Given the description of an element on the screen output the (x, y) to click on. 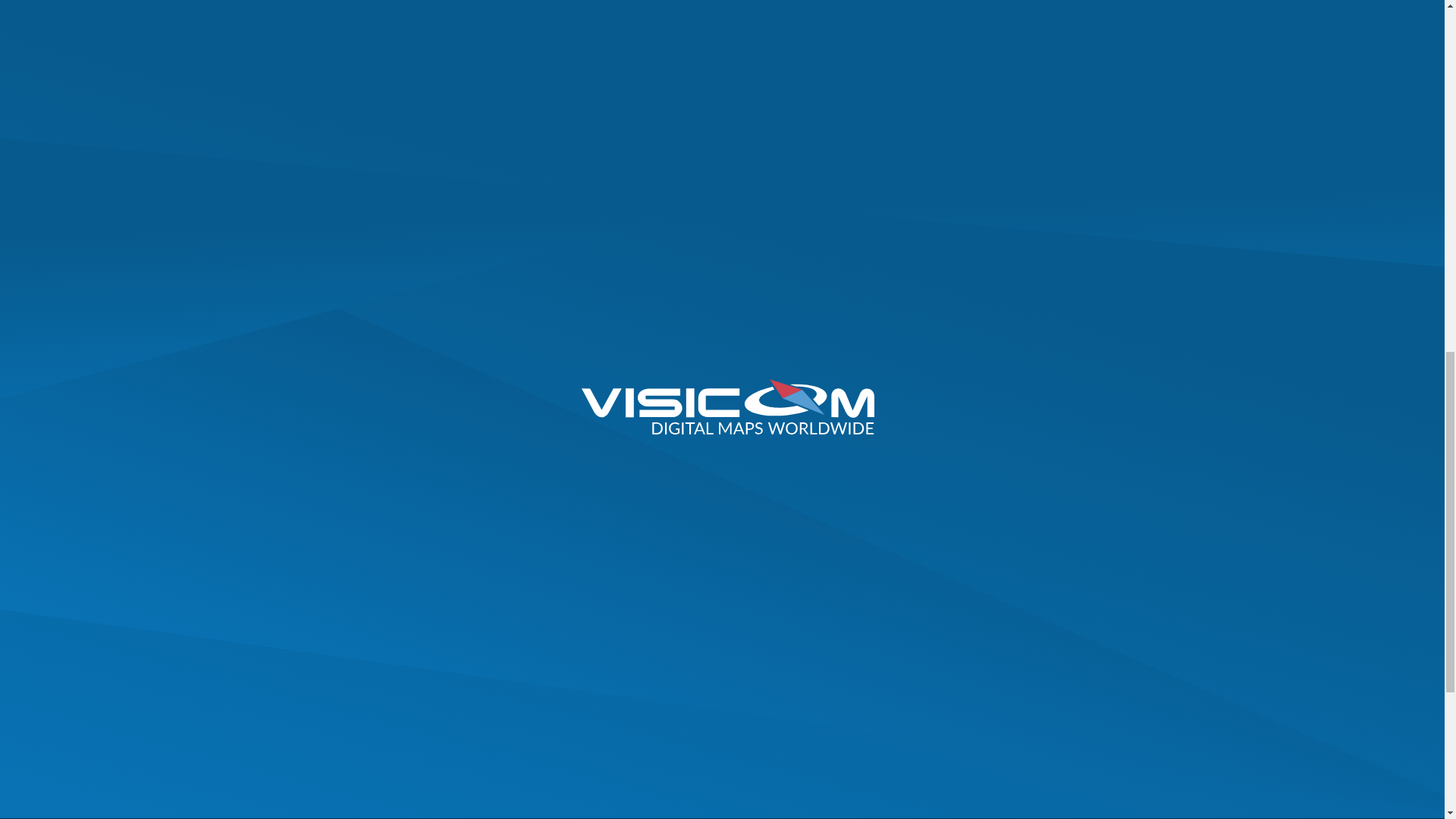
Back to all news (474, 452)
Privacy Policy (1114, 741)
Send (1034, 708)
